Given the description of an element on the screen output the (x, y) to click on. 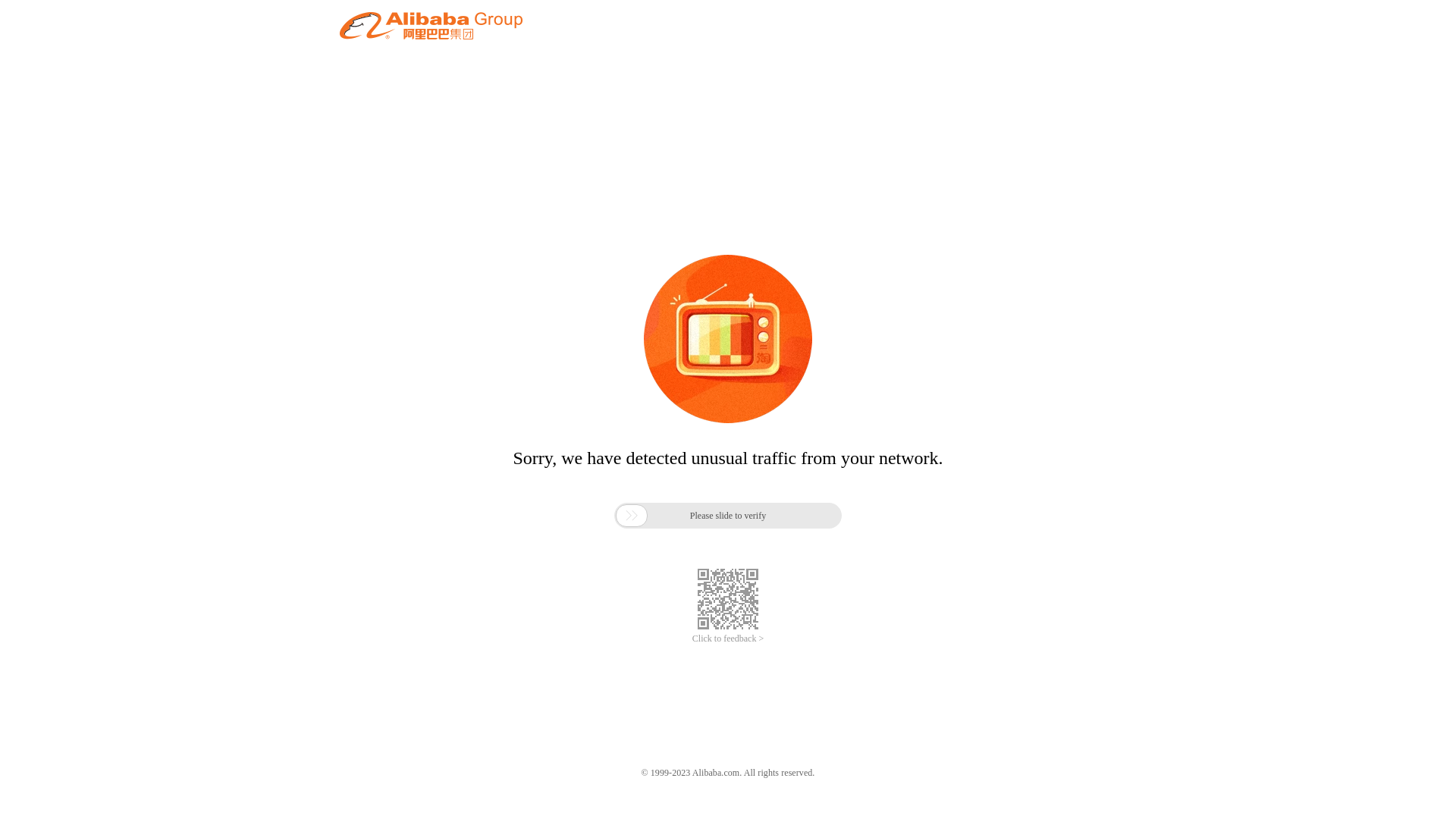
Click to feedback > Element type: text (727, 638)
